Given the description of an element on the screen output the (x, y) to click on. 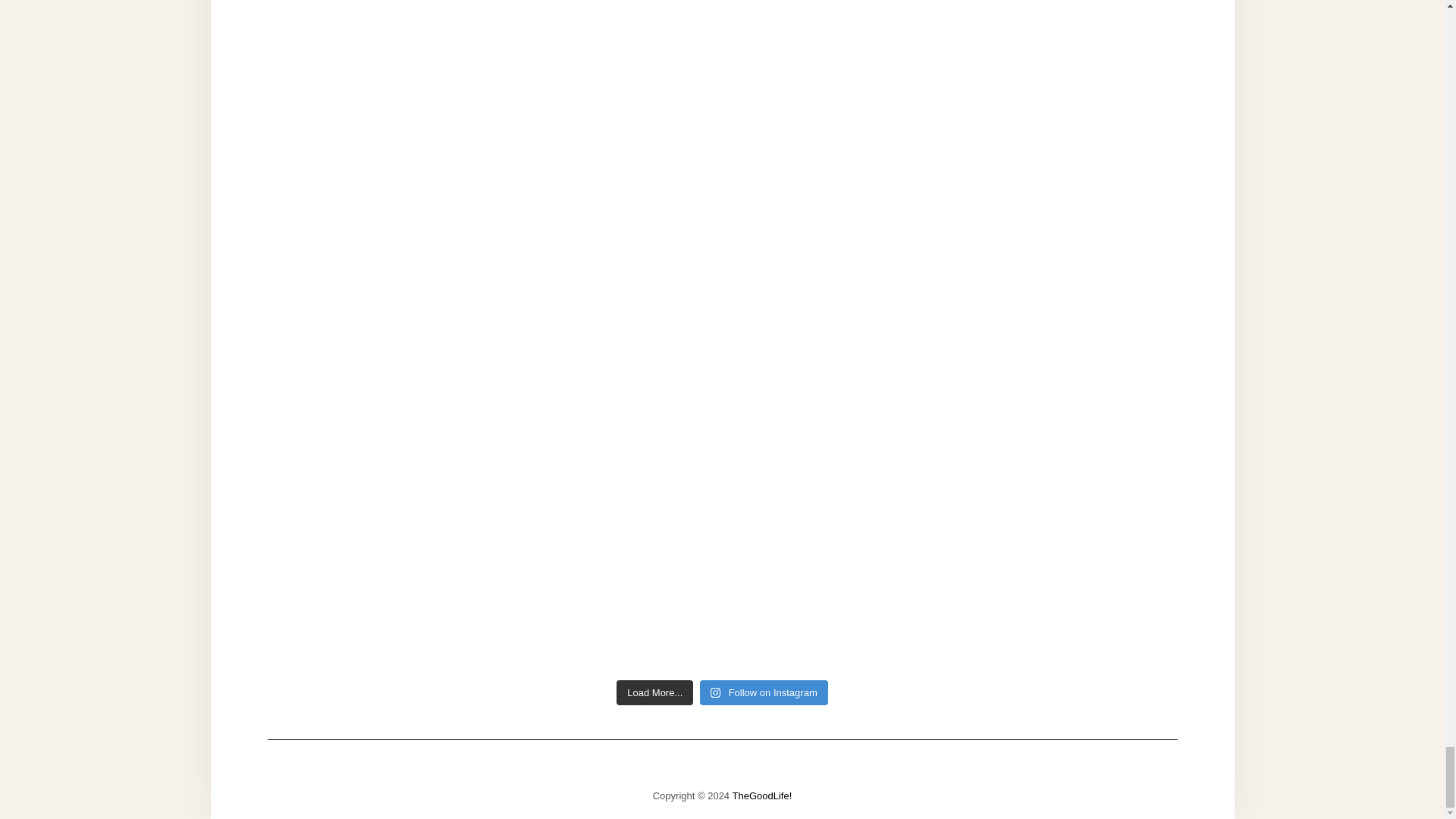
TheGoodLife! (762, 795)
Load More... (654, 692)
Follow on Instagram (764, 692)
